Given the description of an element on the screen output the (x, y) to click on. 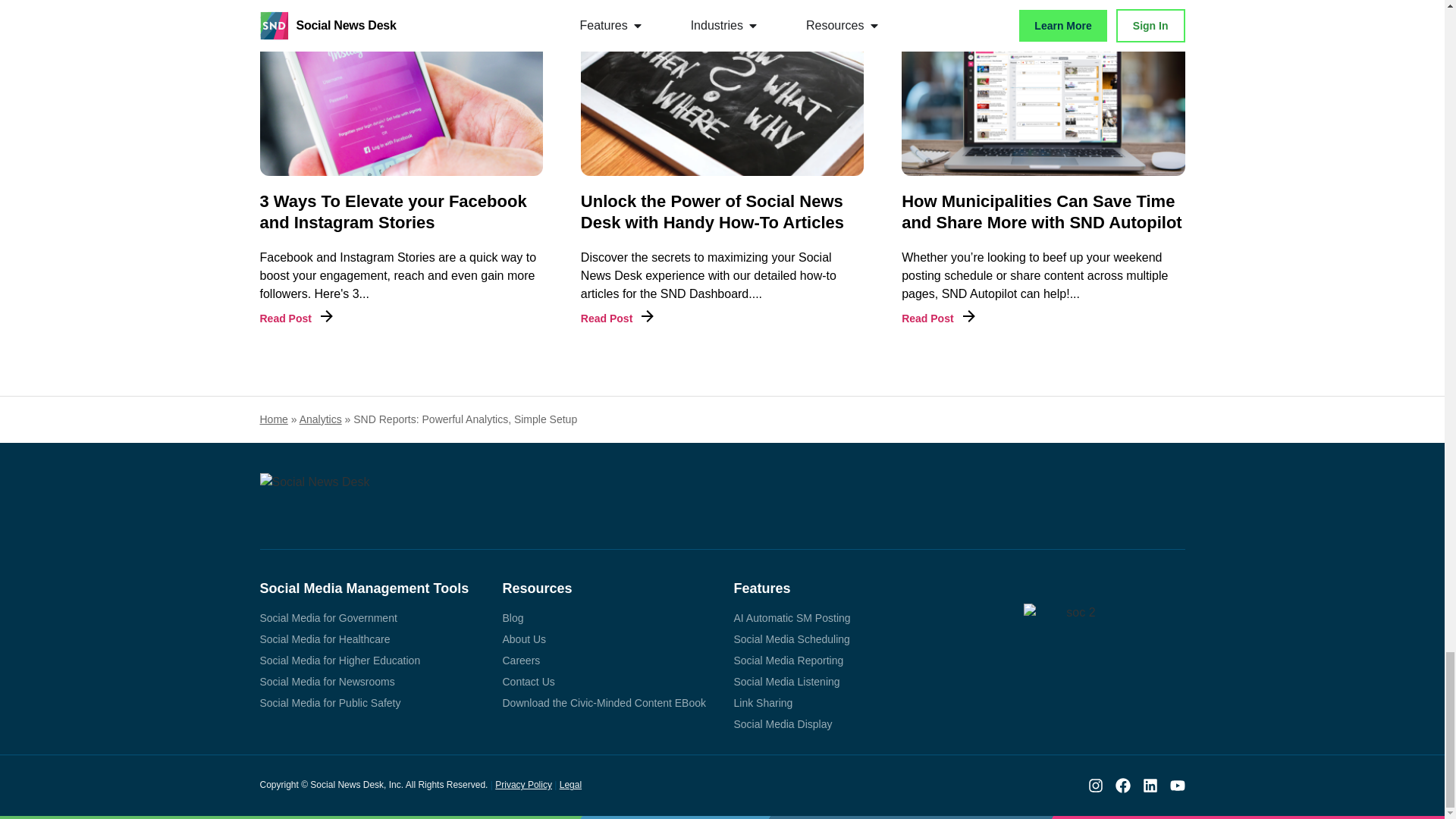
snd autopilot blog banner (1043, 88)
Screenshot 2024-06-28 at 1.32.26 PM (721, 88)
Analytics (320, 419)
Home (272, 419)
